Given the description of an element on the screen output the (x, y) to click on. 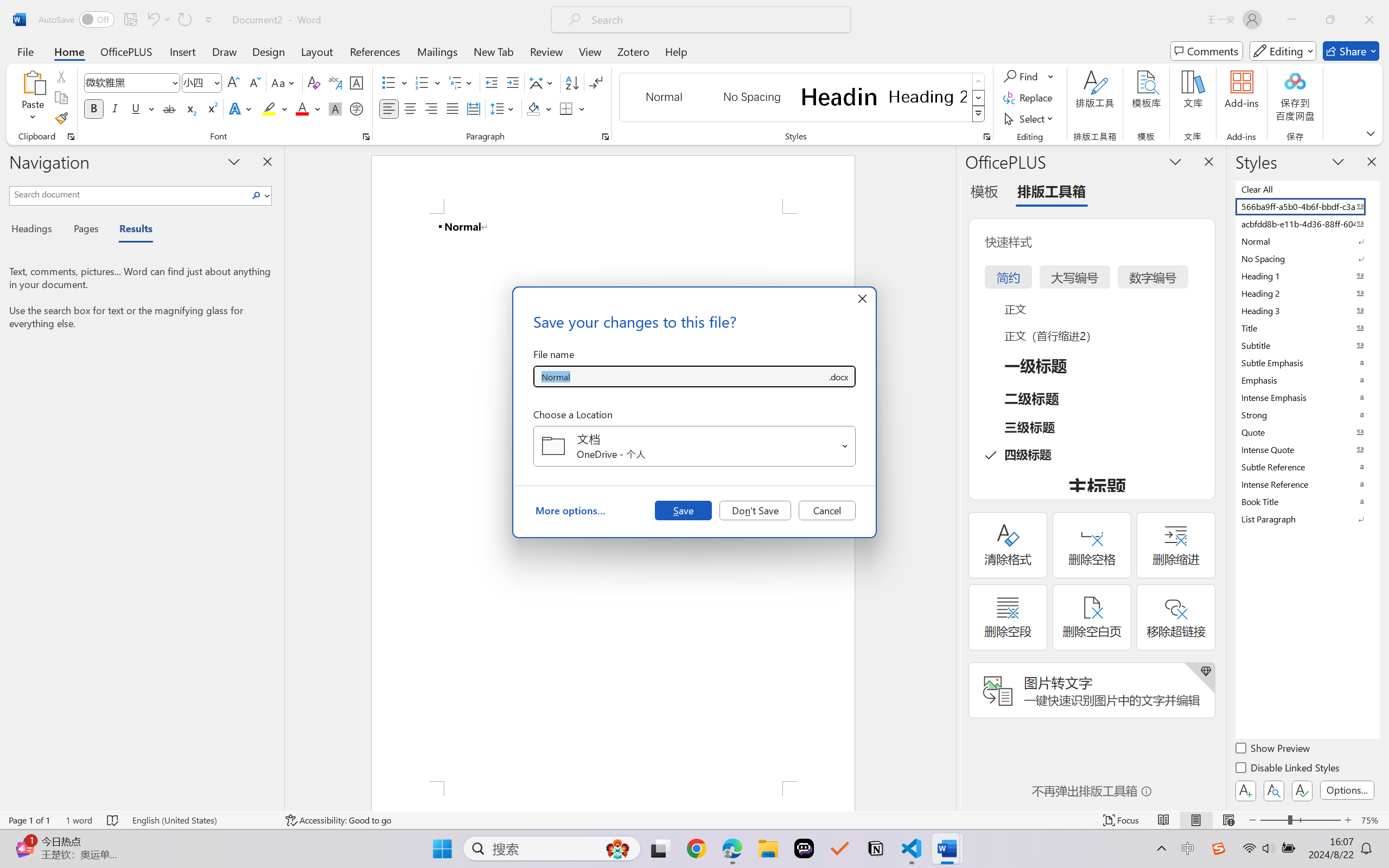
AutomationID: QuickStylesGallery (802, 97)
Shading RGB(0, 0, 0) (533, 108)
Heading 3 (1306, 310)
Numbering (421, 82)
Shrink Font (253, 82)
Word Count 1 word (78, 819)
Font Size (201, 82)
Paragraph... (605, 136)
Repeat Text Fill Effect (184, 19)
Search (259, 195)
Heading 1 (839, 96)
Normal (1306, 240)
Underline (135, 108)
